Given the description of an element on the screen output the (x, y) to click on. 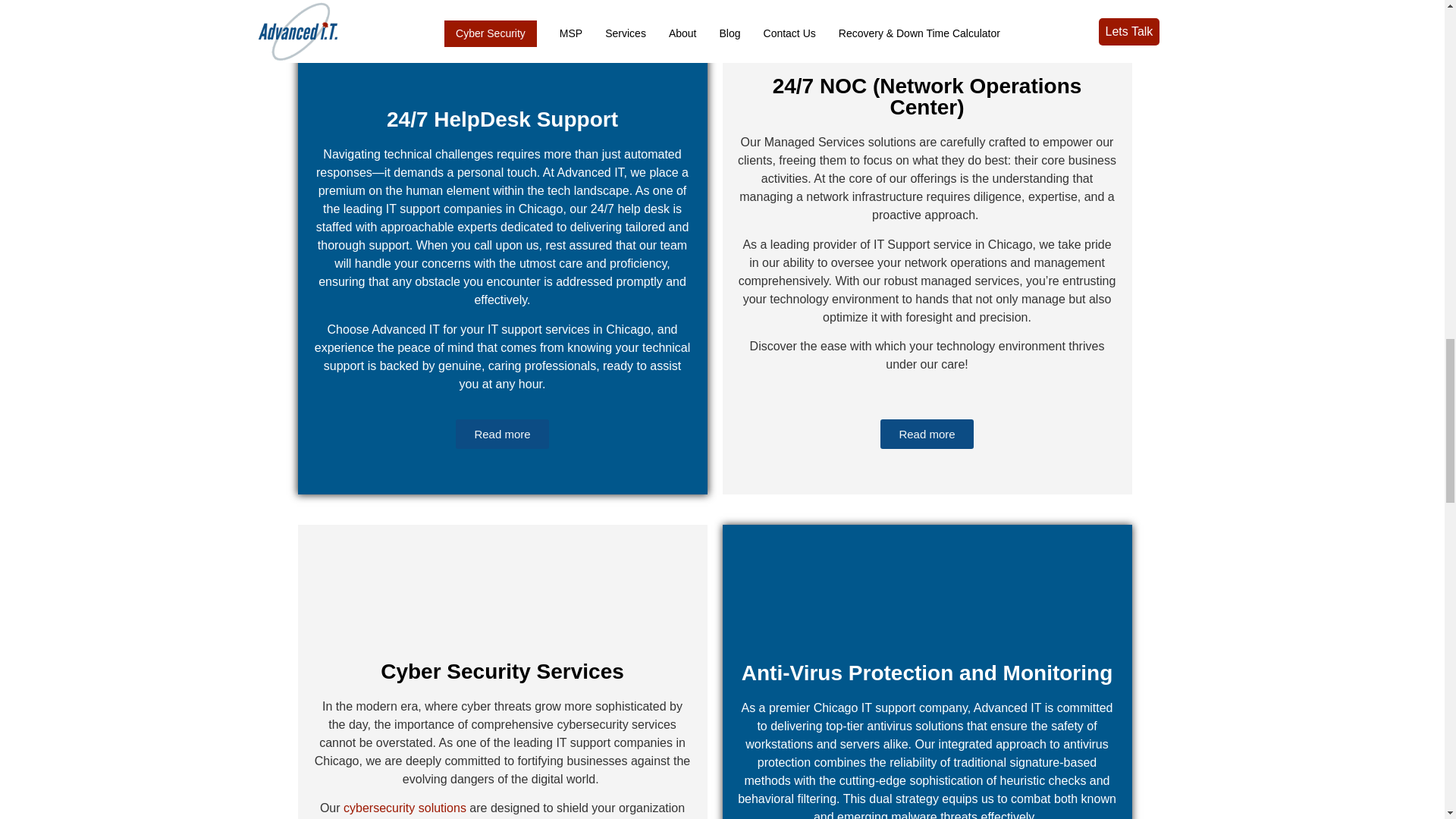
Read more (926, 433)
cybersecurity solutions (404, 807)
Read more (501, 433)
